Given the description of an element on the screen output the (x, y) to click on. 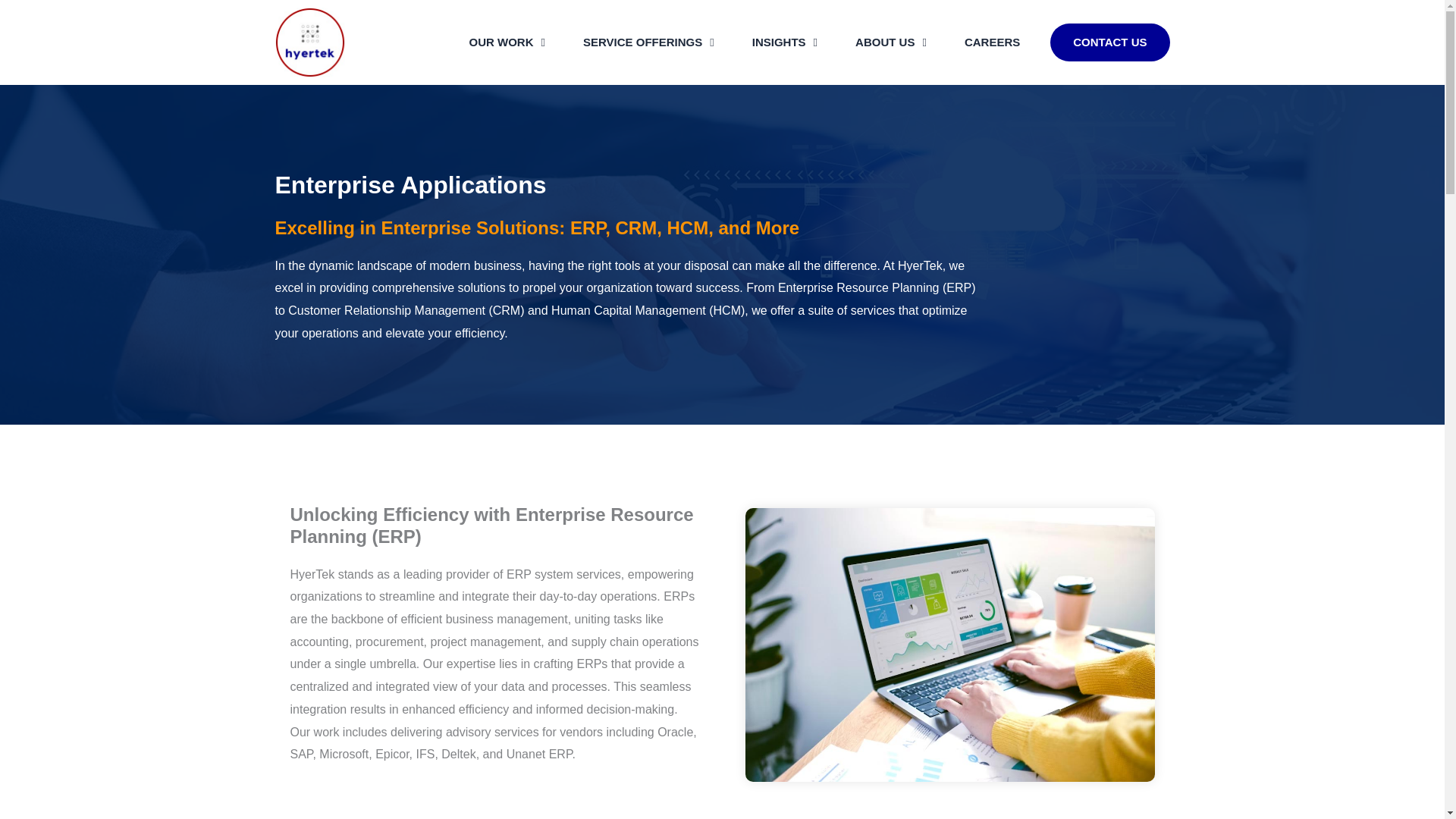
CAREERS (991, 42)
INSIGHTS (784, 42)
CONTACT US (1109, 42)
SERVICE OFFERINGS (648, 42)
ABOUT US (890, 42)
OUR WORK (507, 42)
